Given the description of an element on the screen output the (x, y) to click on. 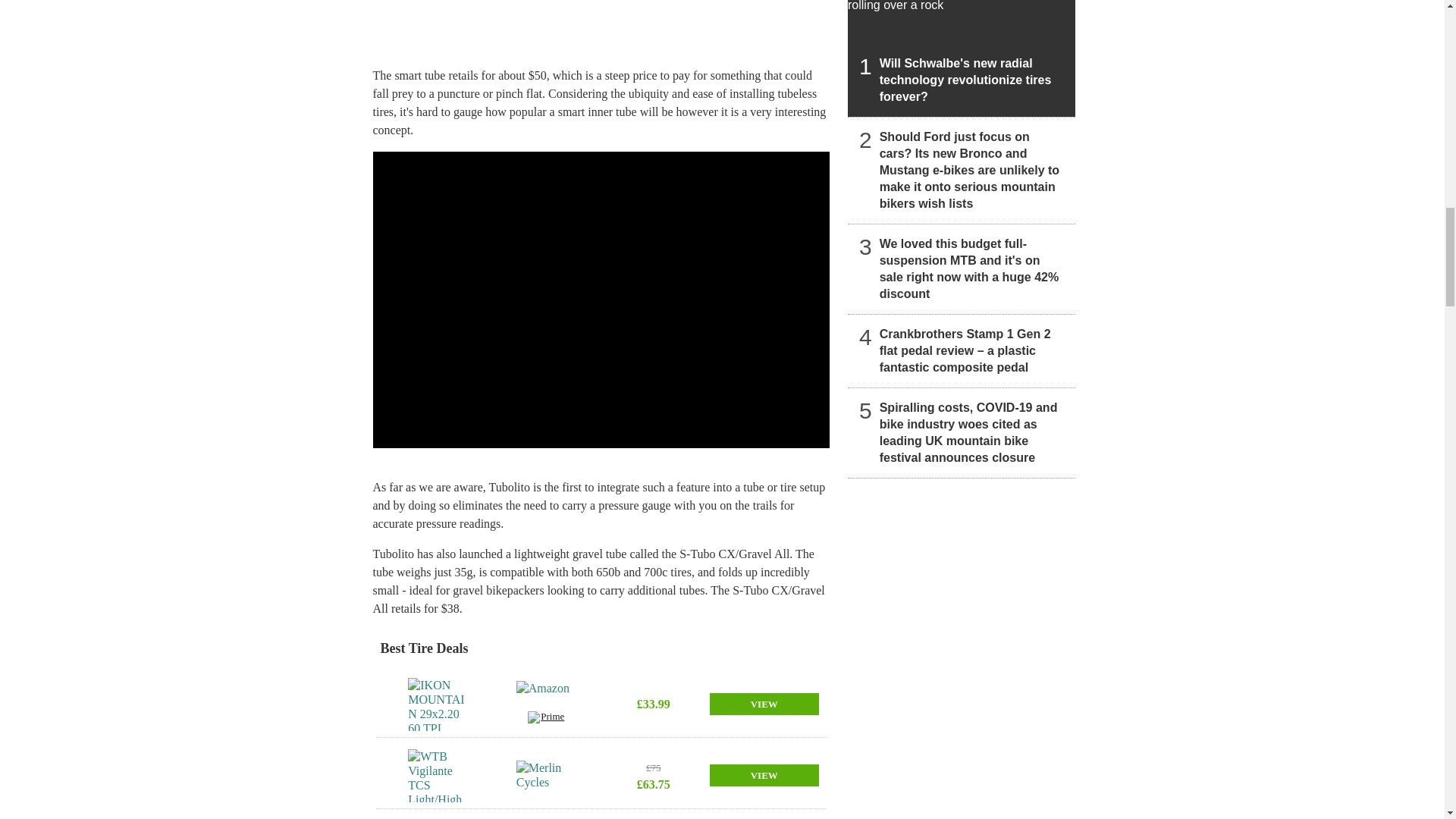
Prime (546, 719)
IKON MOUNTAIN 29x2.20 60 TPI... (437, 704)
Amazon (546, 695)
VIEW (764, 703)
Merlin Cycles Affiliates (546, 775)
